Given the description of an element on the screen output the (x, y) to click on. 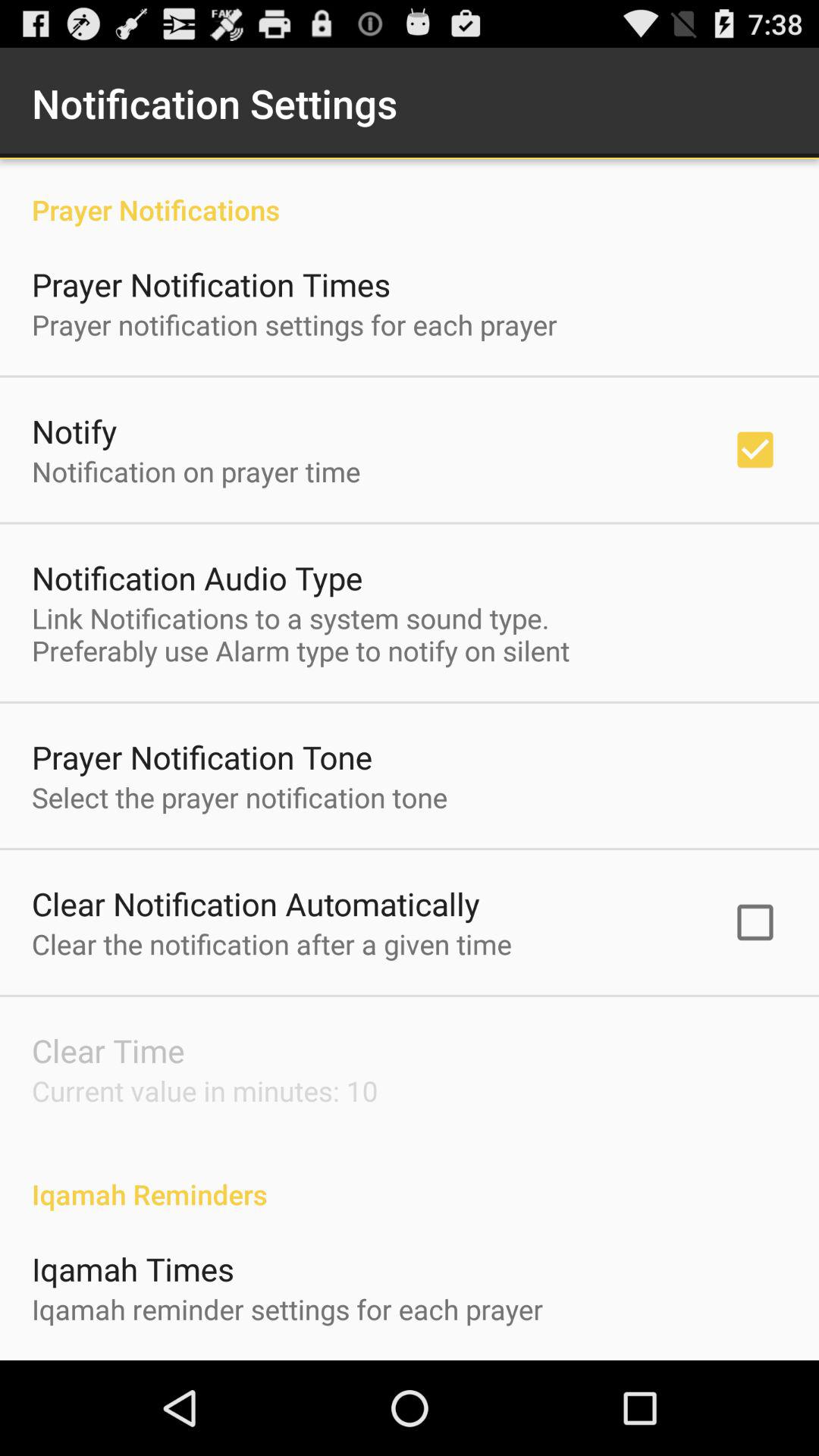
flip until the iqamah reminders item (409, 1178)
